Given the description of an element on the screen output the (x, y) to click on. 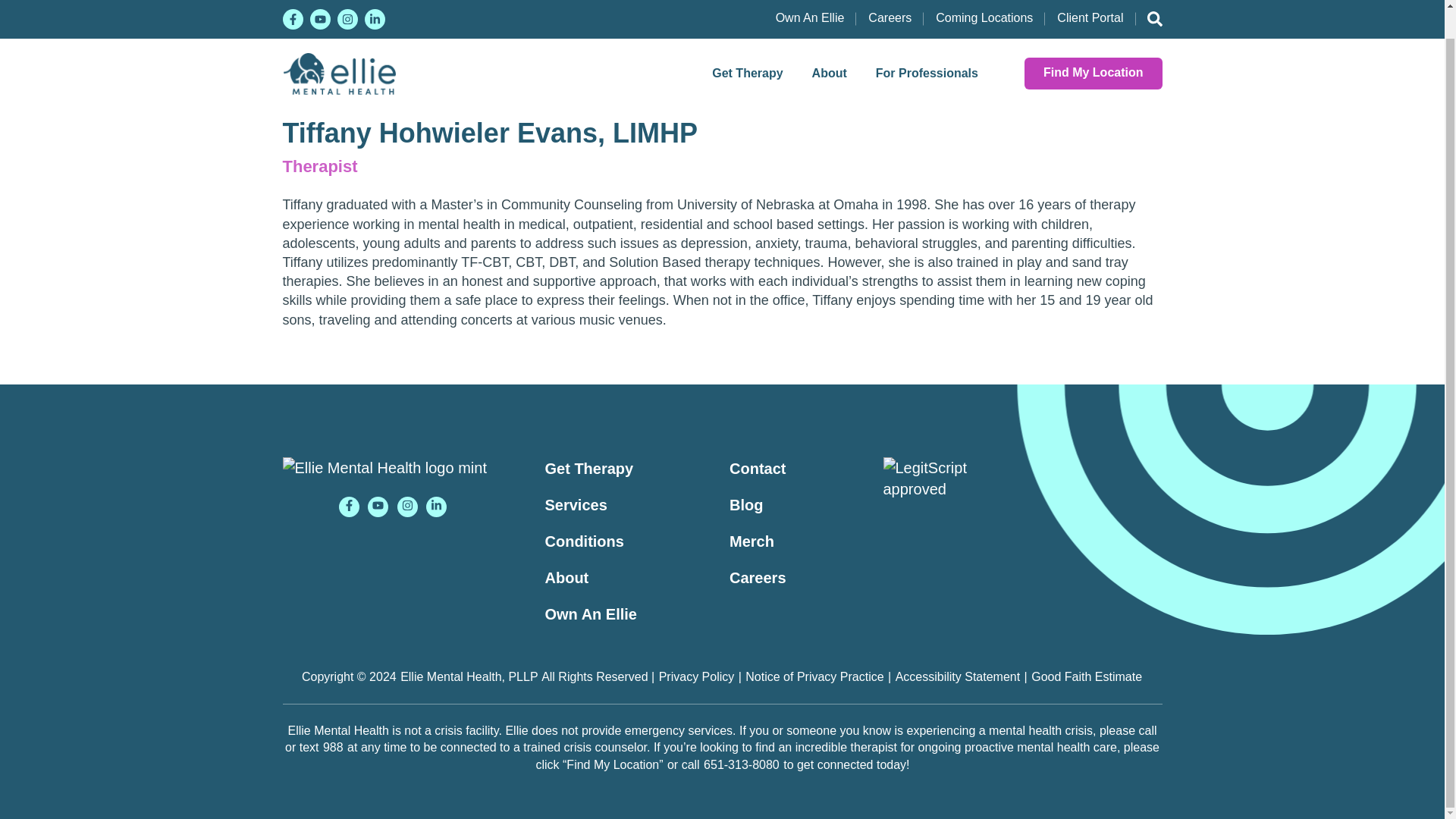
Find My Location (1093, 44)
For Professionals (926, 44)
Get Therapy (746, 44)
Facebook (349, 506)
YouTube (378, 506)
Instagram (407, 506)
Verify LegitScript Approval (935, 502)
About (829, 44)
